Given the description of an element on the screen output the (x, y) to click on. 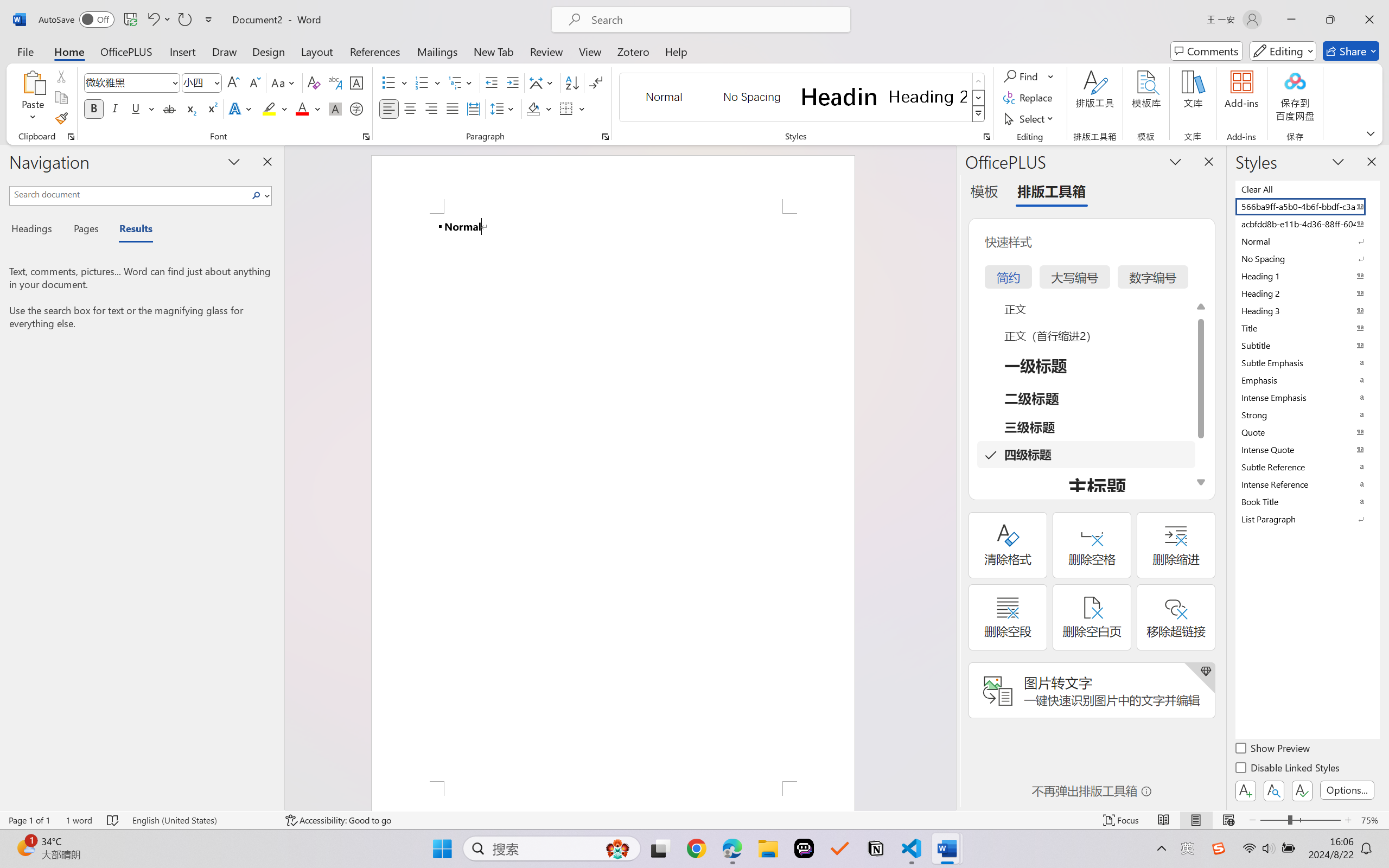
Insert (182, 51)
Styles... (986, 136)
Text Effects and Typography (241, 108)
Options... (1346, 789)
Zotero (632, 51)
Phonetic Guide... (334, 82)
Change Case (284, 82)
Decrease Indent (491, 82)
Heading 3 (1306, 310)
Spelling and Grammar Check No Errors (113, 819)
Quick Access Toolbar (127, 19)
Paste (33, 81)
Disable Linked Styles (1287, 769)
